Given the description of an element on the screen output the (x, y) to click on. 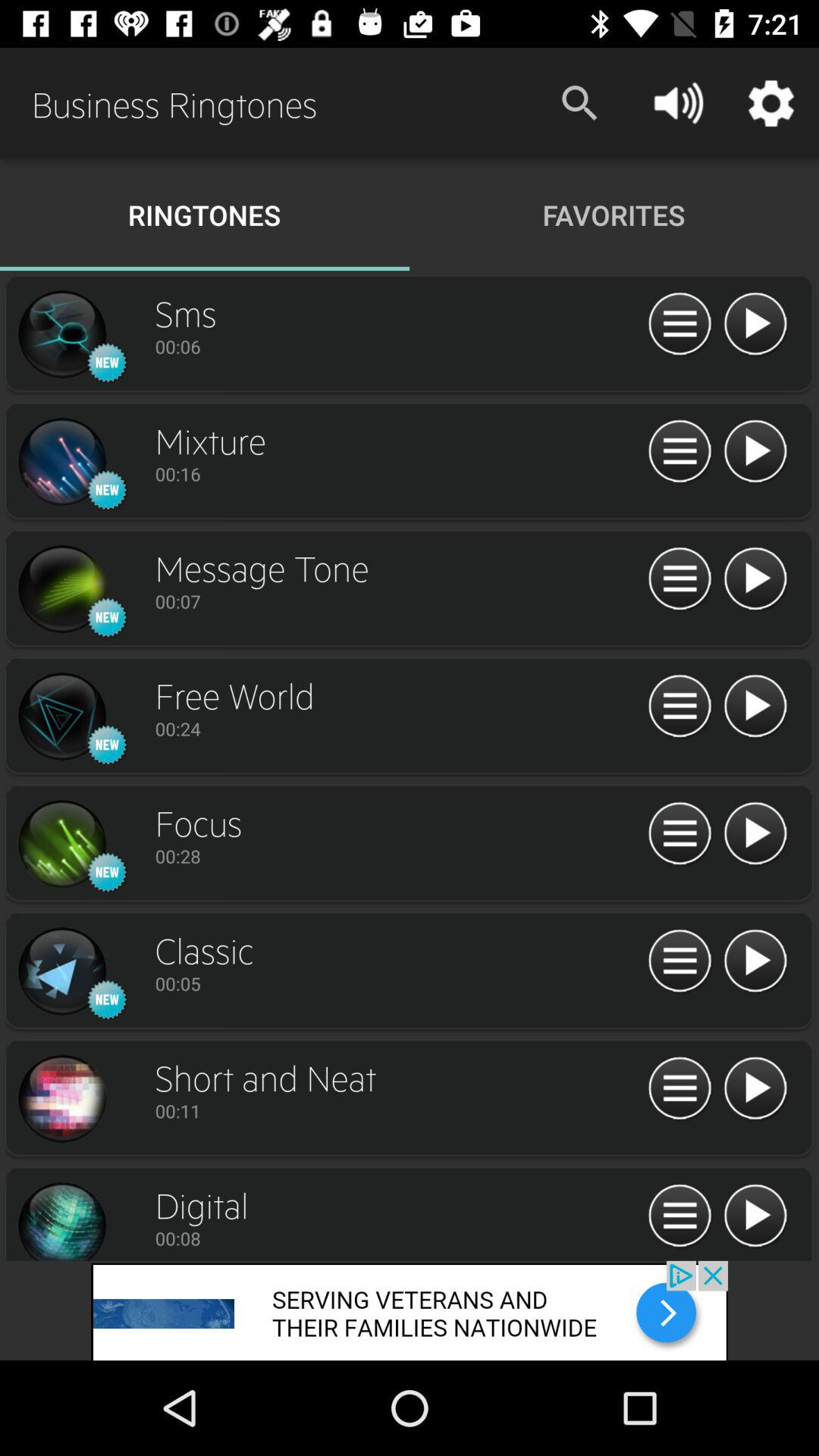
click arrow button (755, 324)
